Given the description of an element on the screen output the (x, y) to click on. 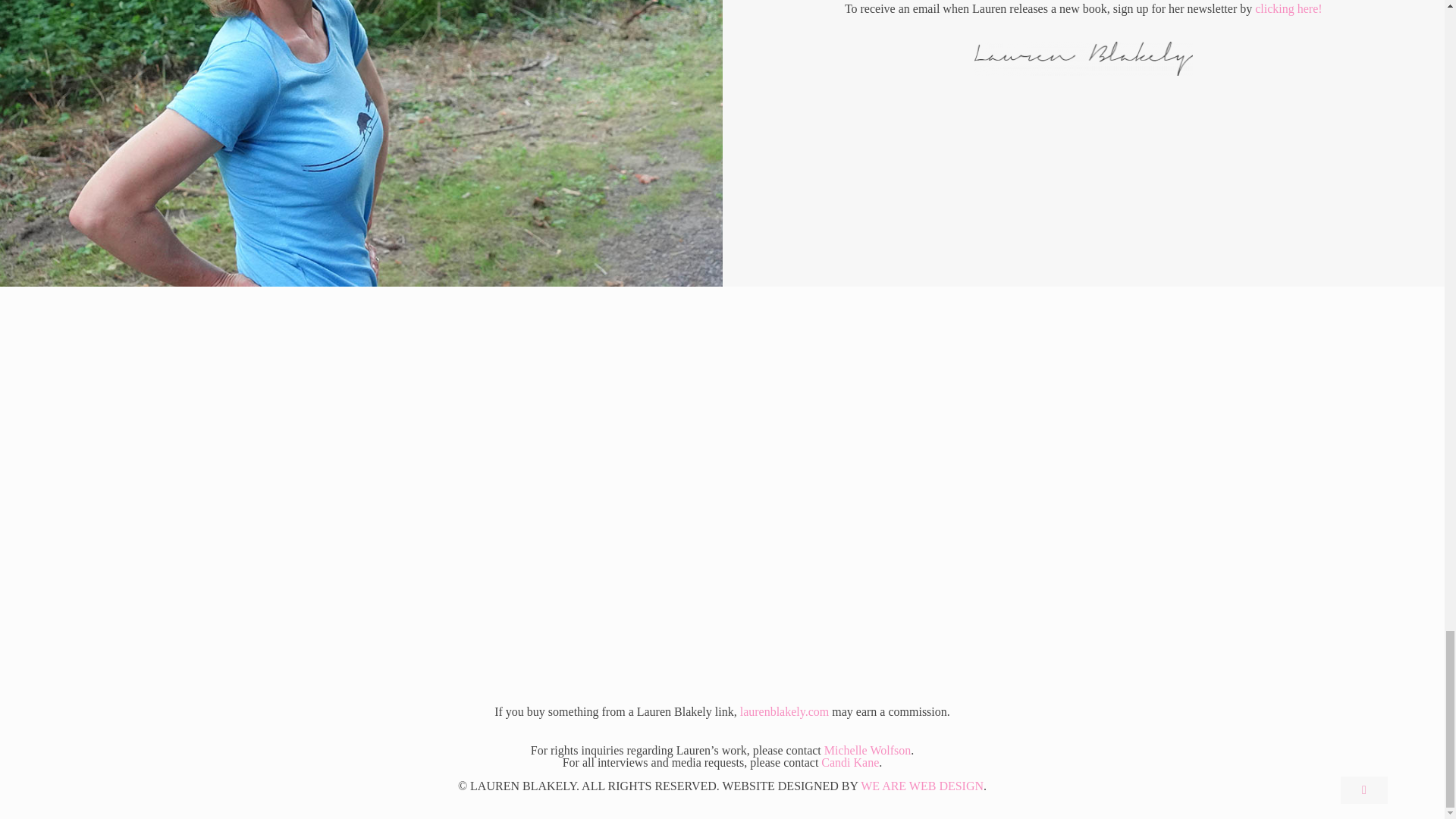
clicking here! (1288, 8)
laurenblakely.com (784, 711)
WE ARE WEB DESIGN (922, 785)
Michelle Wolfson (867, 749)
Candi Kane (850, 762)
